Given the description of an element on the screen output the (x, y) to click on. 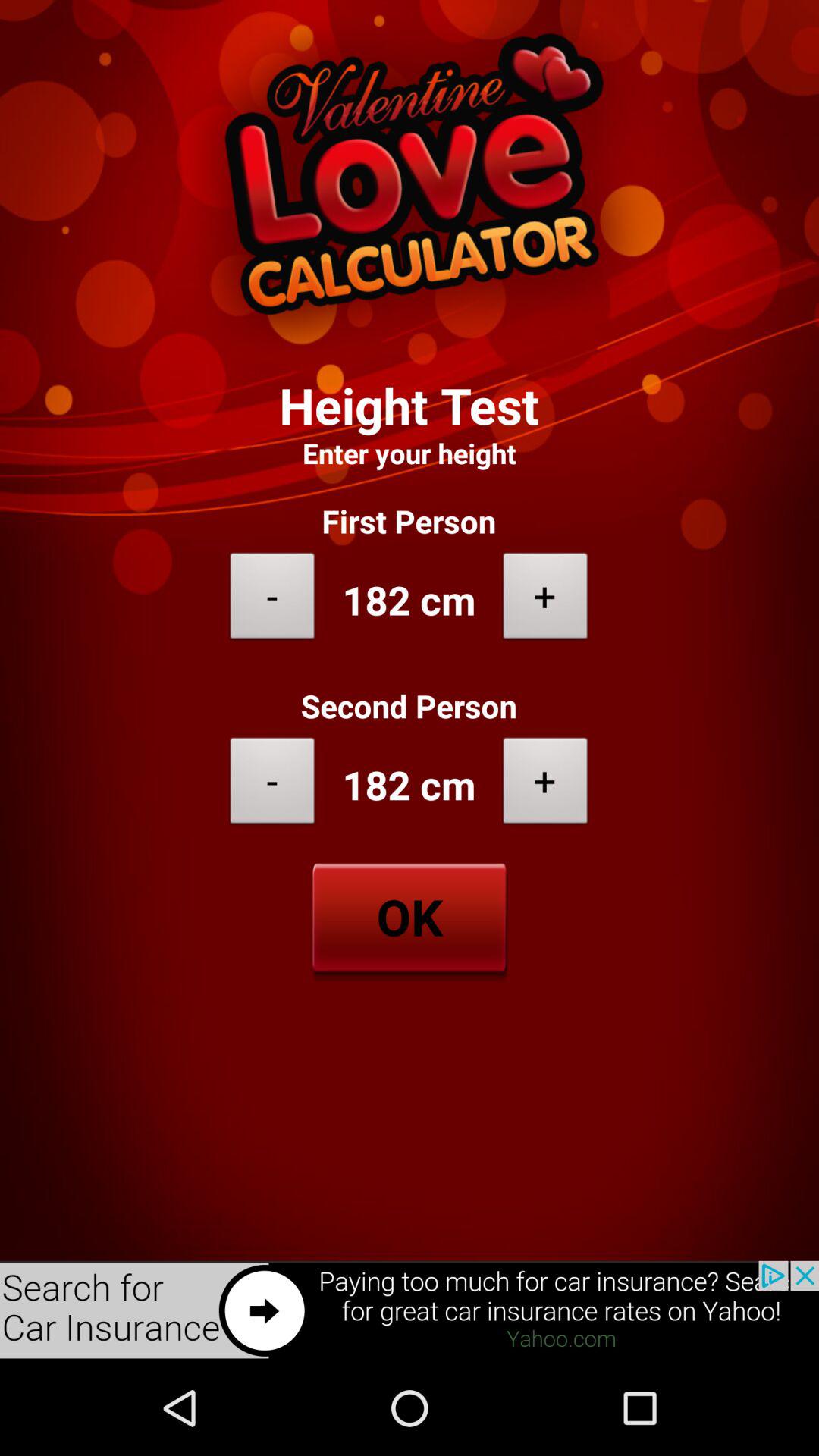
advertiser banner (409, 1310)
